Given the description of an element on the screen output the (x, y) to click on. 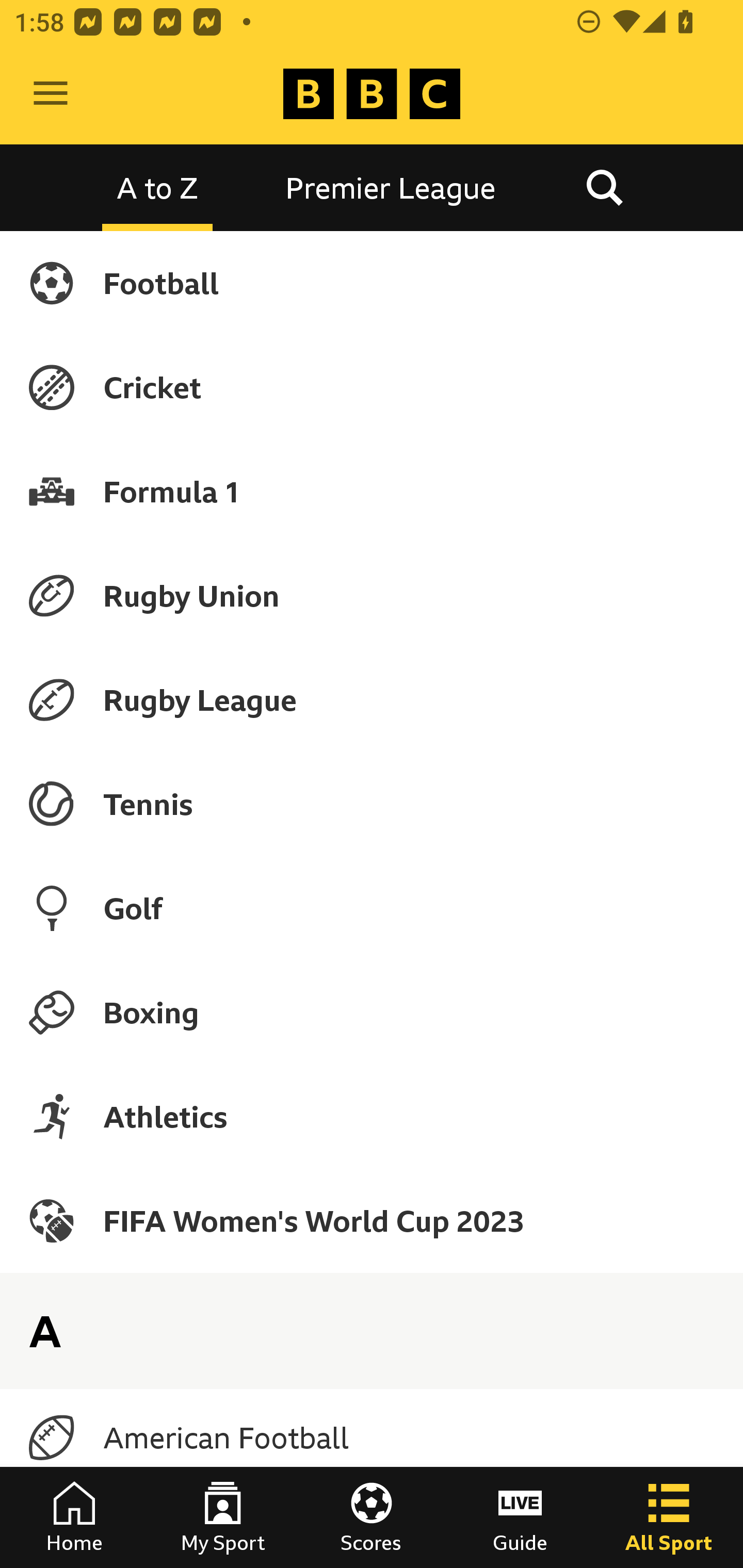
Open Menu (50, 93)
Premier League (390, 187)
Search (604, 187)
Football (371, 282)
Cricket (371, 387)
Formula 1 (371, 491)
Rugby Union (371, 595)
Rugby League (371, 699)
Tennis (371, 804)
Golf (371, 907)
Boxing (371, 1011)
Athletics (371, 1116)
FIFA Women's World Cup 2023 (371, 1220)
American Football (371, 1437)
Home (74, 1517)
My Sport (222, 1517)
Scores (371, 1517)
Guide (519, 1517)
